Given the description of an element on the screen output the (x, y) to click on. 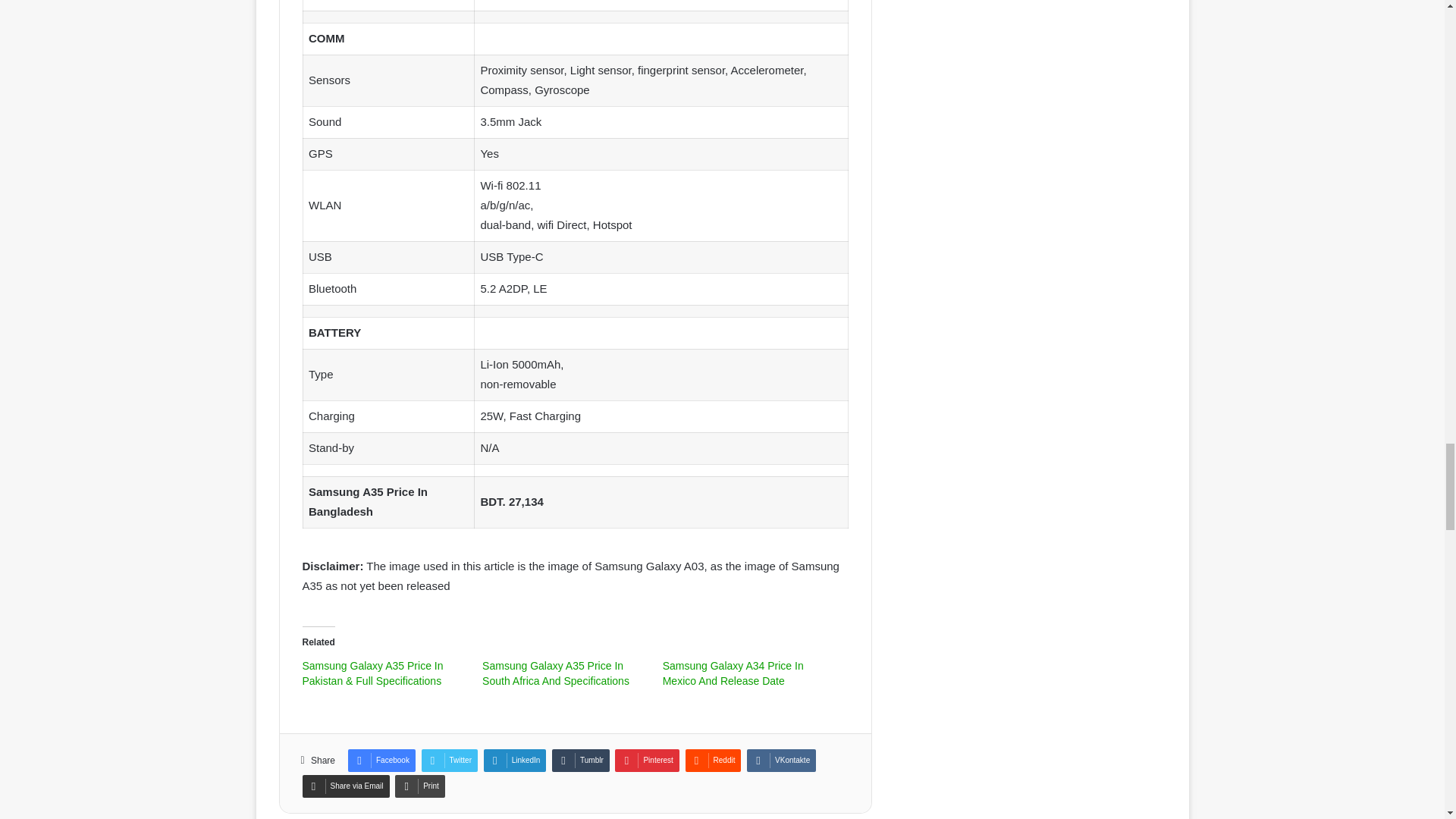
Samsung Galaxy A34 Price In Mexico And Release Date (732, 673)
Samsung Galaxy A34 Price In Mexico And Release Date (732, 673)
Facebook (380, 760)
Samsung Galaxy A35 Price In South Africa And Specifications (554, 673)
Samsung Galaxy A35 Price In South Africa And Specifications (554, 673)
